Given the description of an element on the screen output the (x, y) to click on. 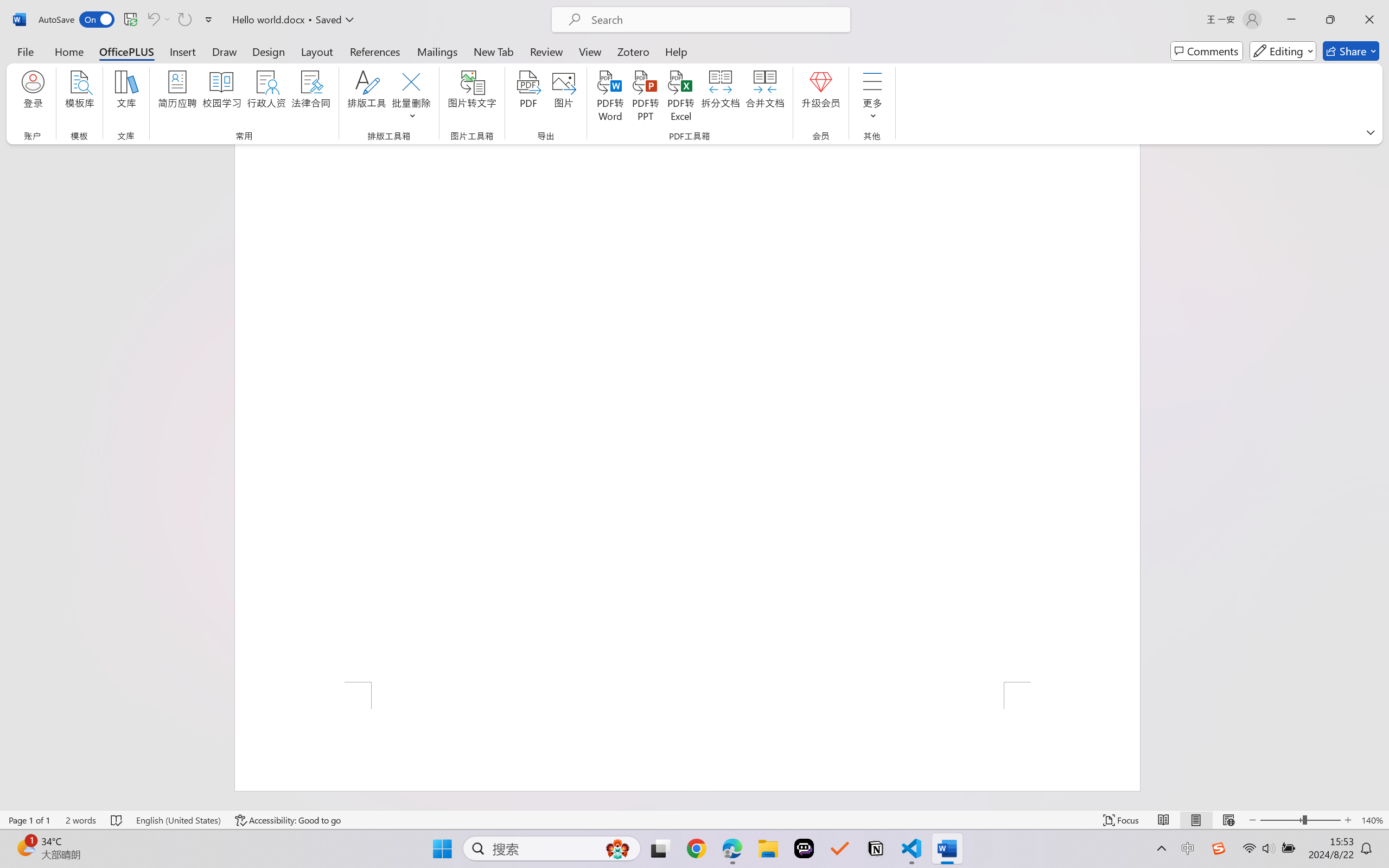
Save (130, 19)
Can't Repeat (184, 19)
Notion (875, 848)
Can't Undo (152, 19)
AutoSave (76, 19)
Accessibility Checker Accessibility: Good to go (288, 819)
Insert (182, 51)
Design (268, 51)
Print Layout (1196, 819)
New Tab (493, 51)
Zoom (1300, 819)
